Given the description of an element on the screen output the (x, y) to click on. 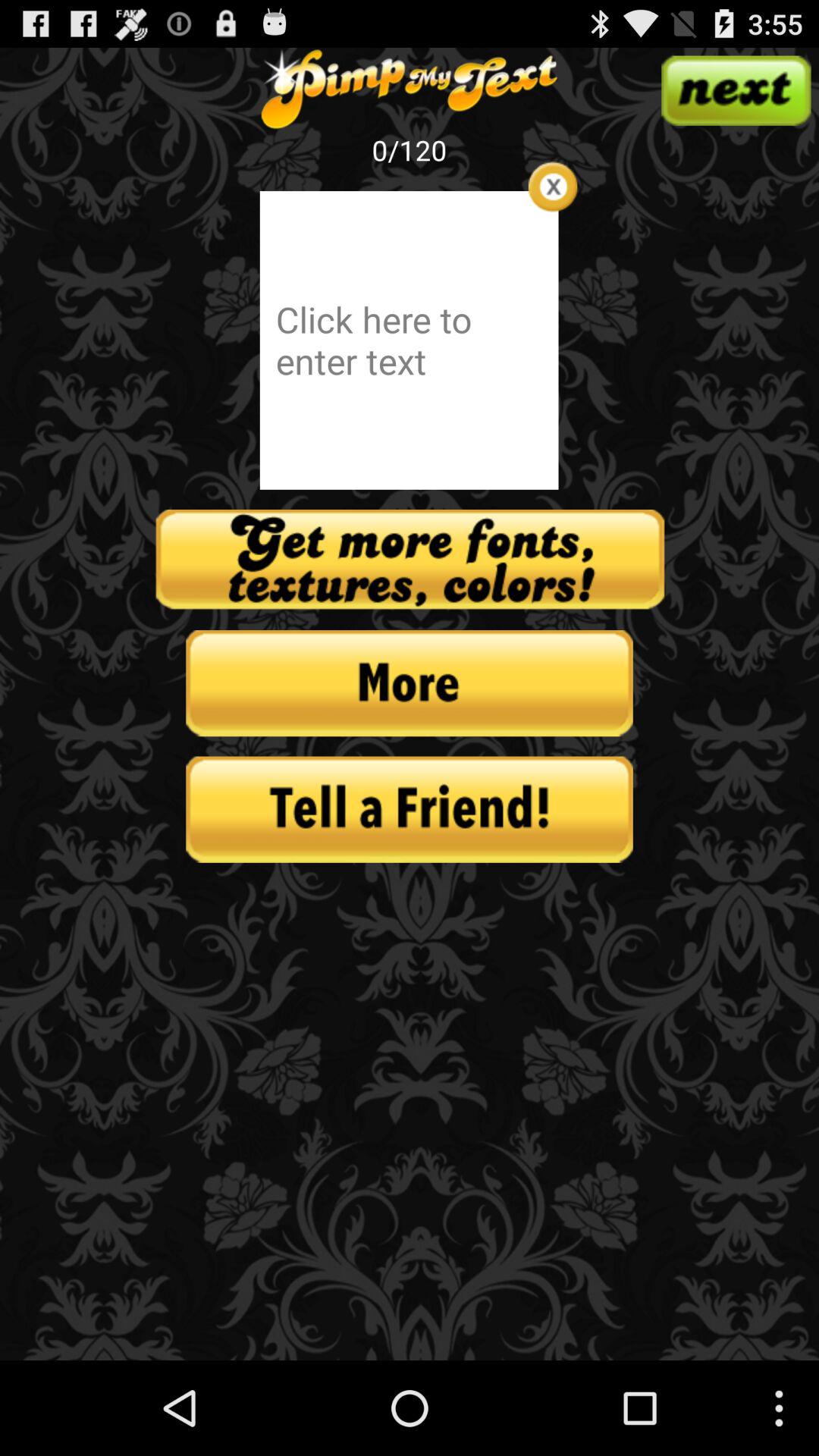
close (552, 186)
